Given the description of an element on the screen output the (x, y) to click on. 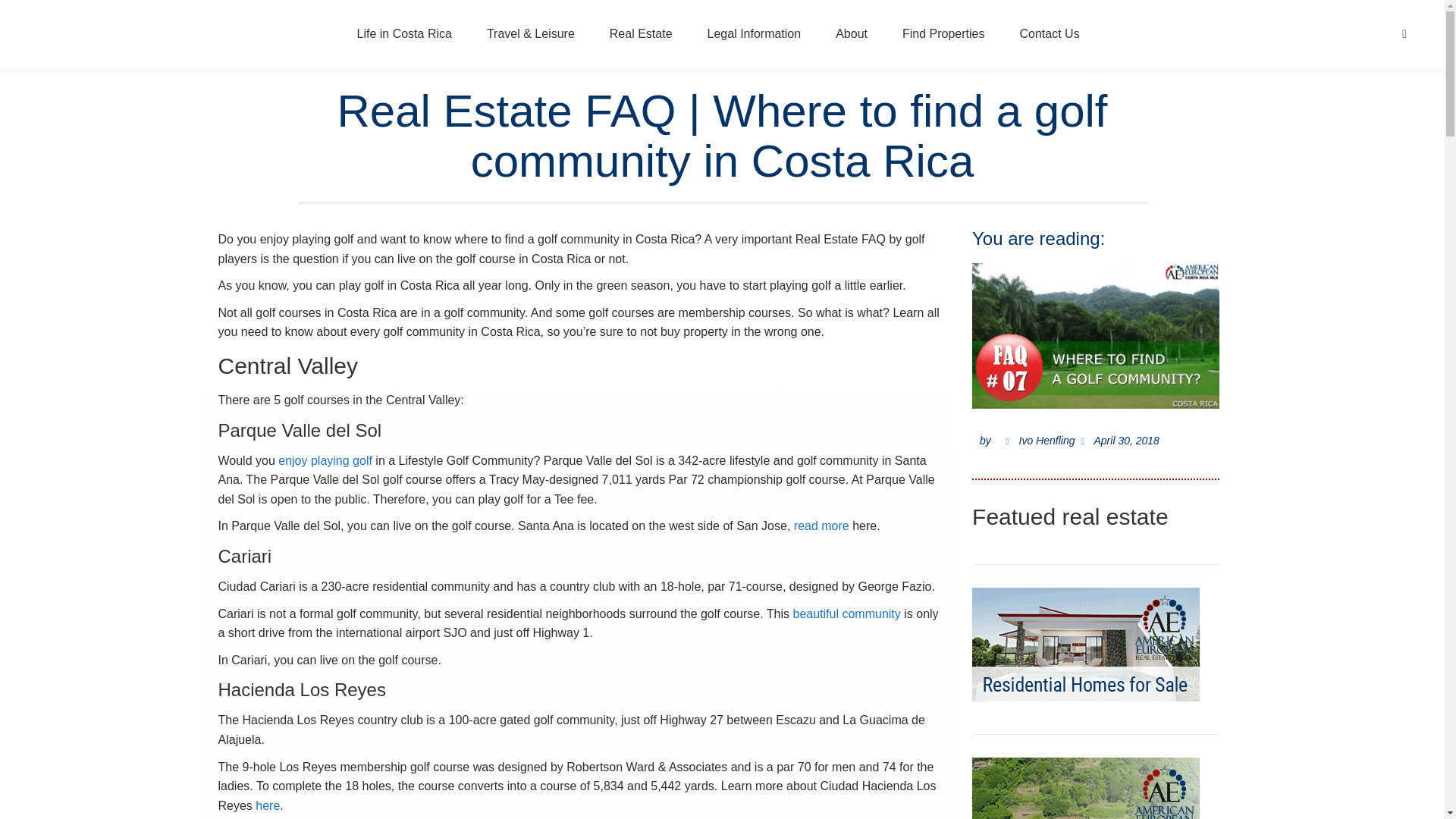
Contact Us (1049, 33)
About (851, 33)
Costa Rica real estate topics (640, 33)
Life in Costa Rica (404, 33)
Costa Rica Legal (753, 33)
Legal Information (753, 33)
Real Estate (640, 33)
Find Properties (943, 33)
